Given the description of an element on the screen output the (x, y) to click on. 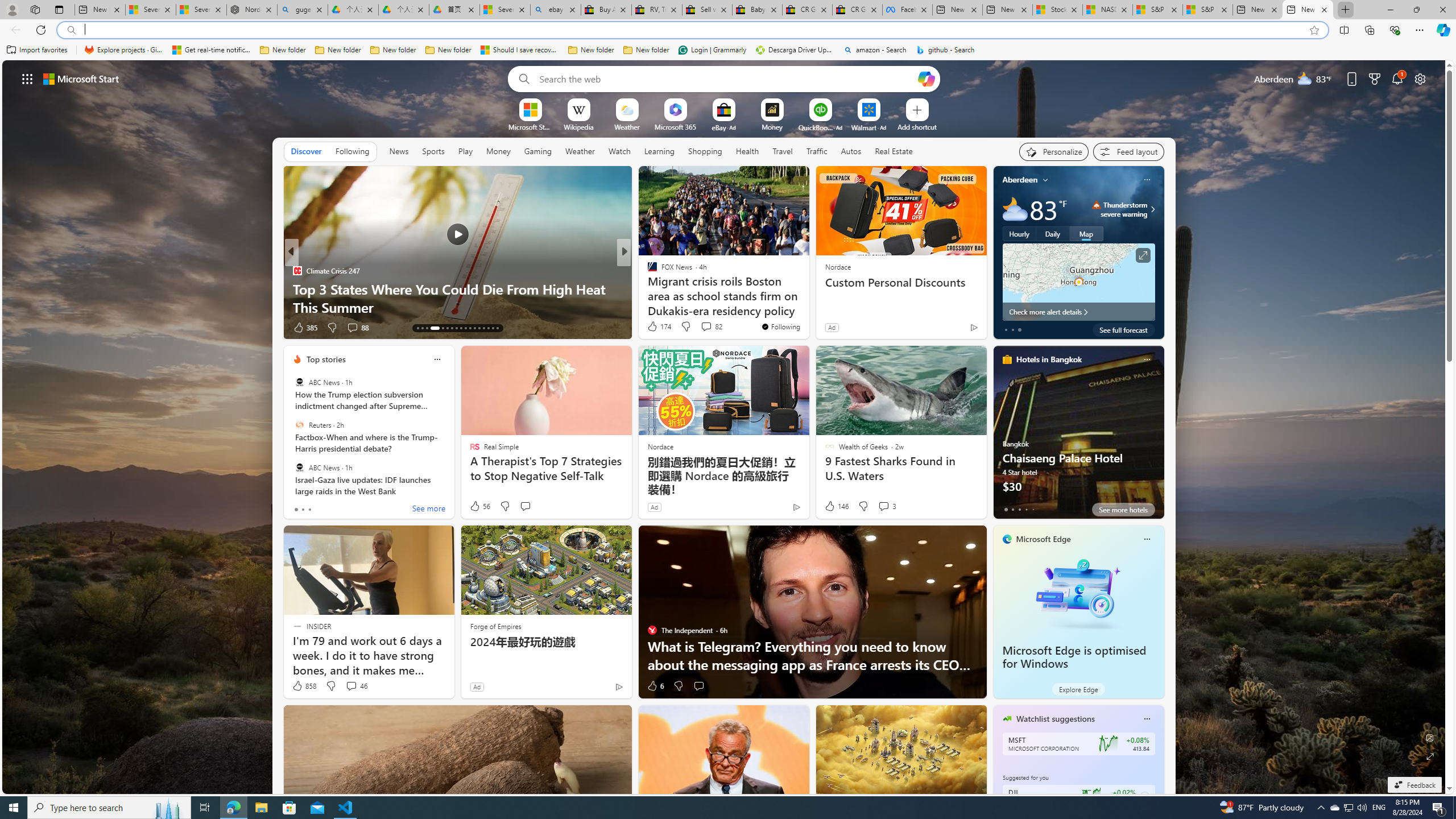
CNET (647, 288)
Gaming (537, 151)
tab-3 (1025, 509)
Travel (782, 151)
Forge of Empires (495, 625)
6 Like (655, 685)
Microsoft rewards (1374, 78)
Health (746, 151)
View comments 10 Comment (704, 327)
AutomationID: tab-18 (446, 328)
